Given the description of an element on the screen output the (x, y) to click on. 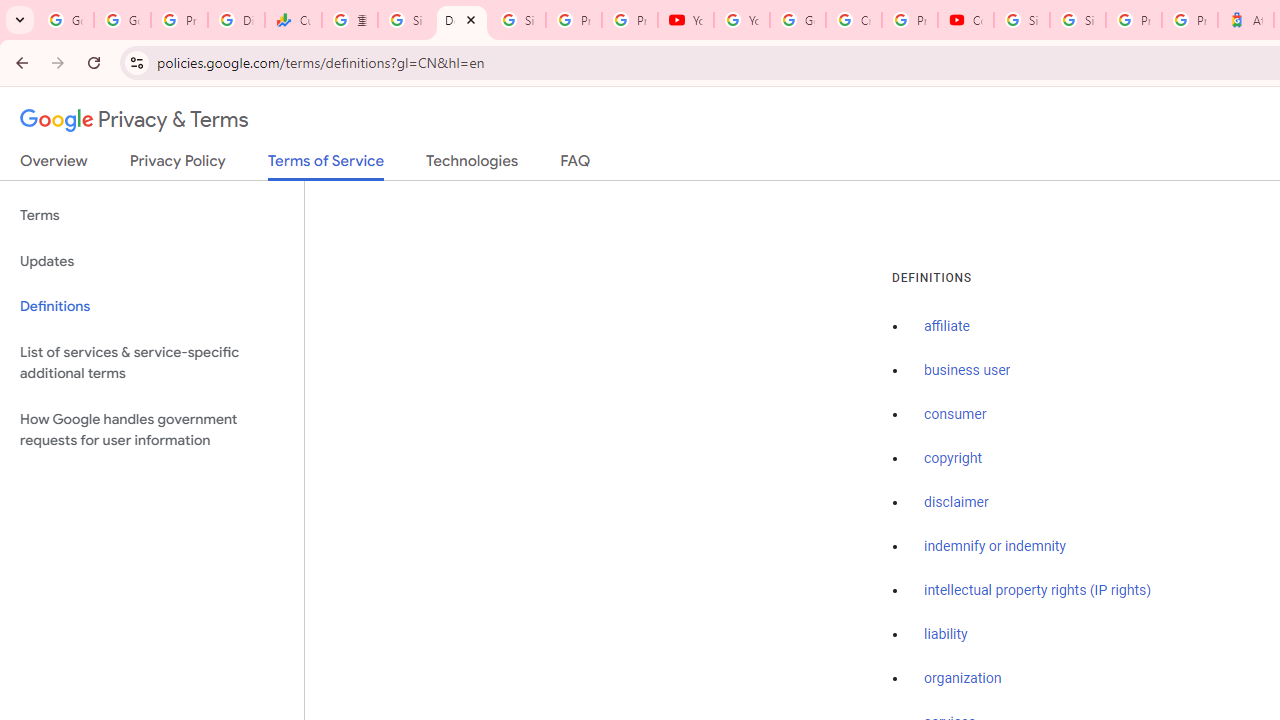
copyright (952, 459)
YouTube (742, 20)
Create your Google Account (853, 20)
How Google handles government requests for user information (152, 429)
consumer (955, 415)
Privacy Checkup (629, 20)
Currencies - Google Finance (293, 20)
